Given the description of an element on the screen output the (x, y) to click on. 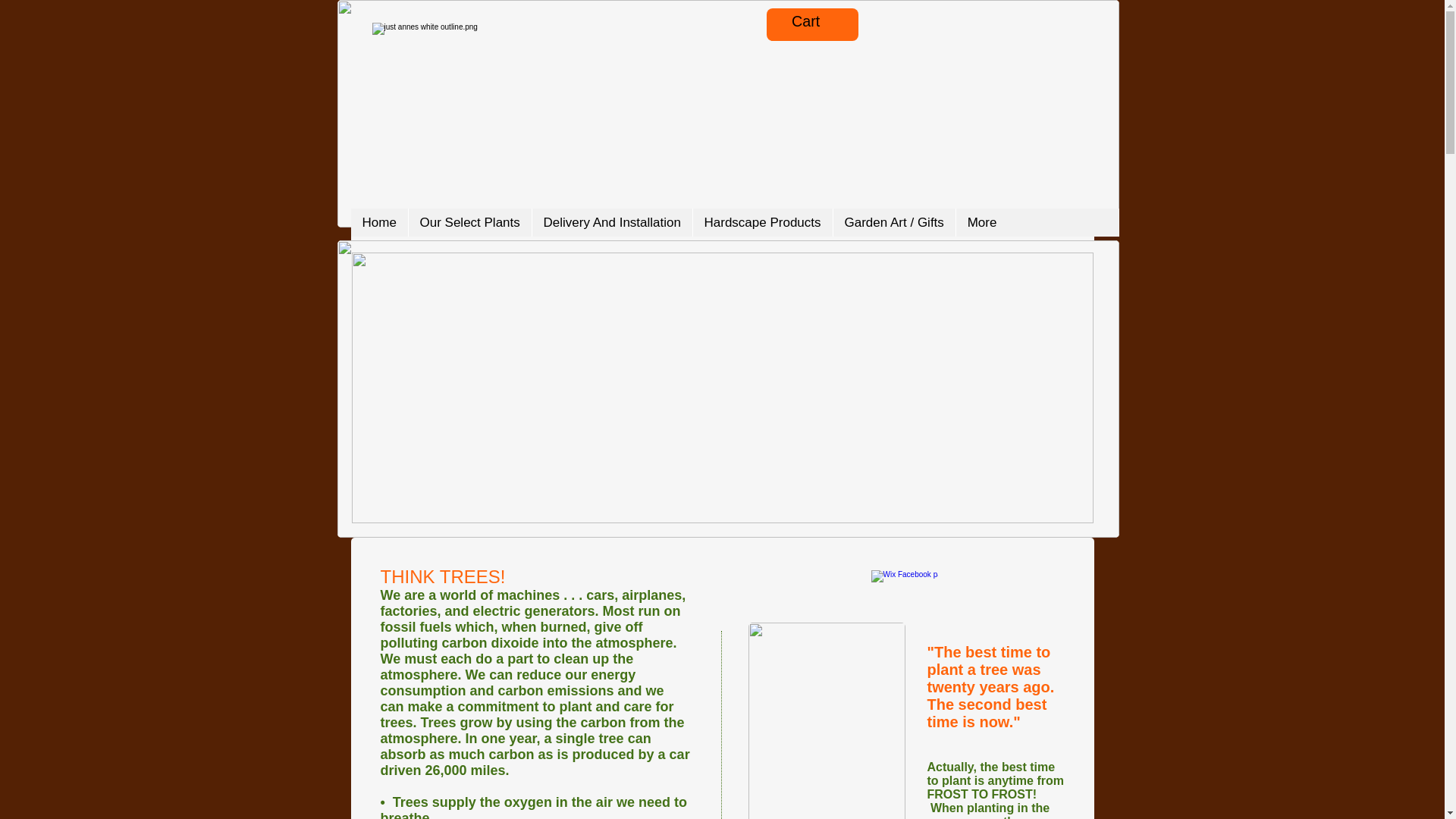
Our Select Plants (469, 222)
Cart (818, 21)
Hardscape Products (761, 222)
Home (378, 222)
Delivery And Installation (611, 222)
Cart (818, 21)
